Given the description of an element on the screen output the (x, y) to click on. 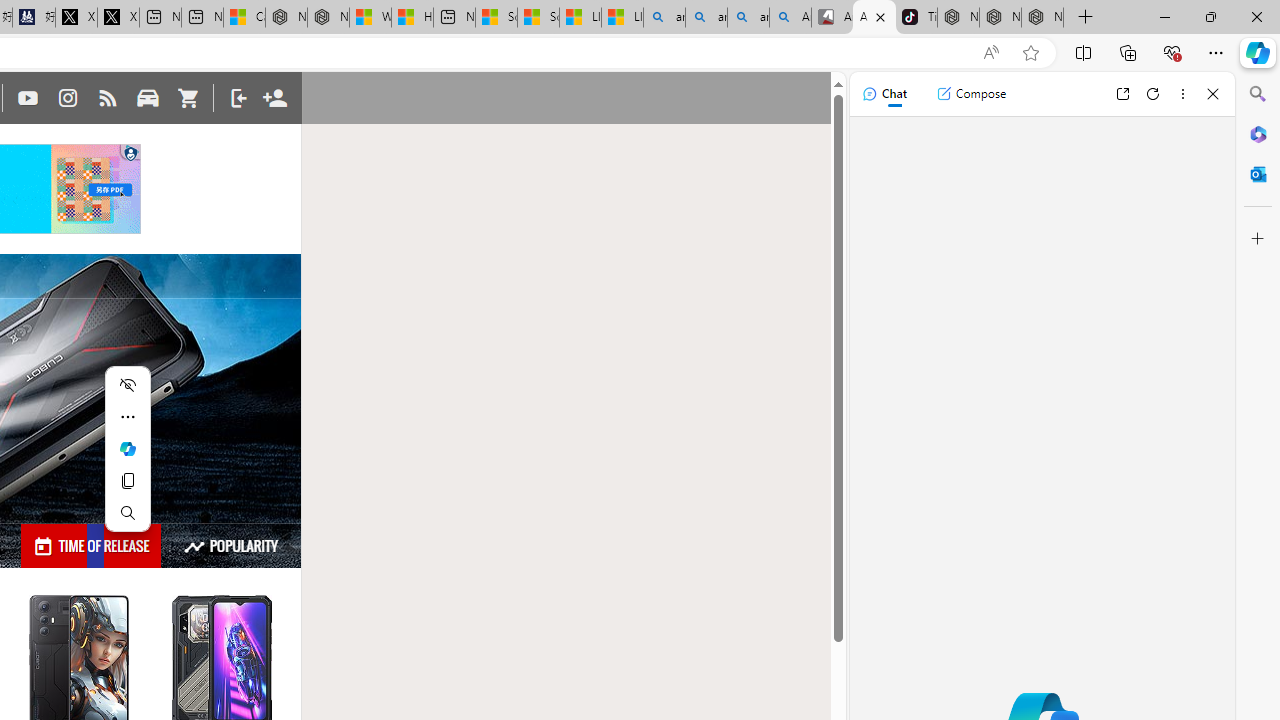
To get missing image descriptions, open the context menu. (130, 154)
All Cubot phones (873, 17)
Nordace - Siena Pro 15 Essential Set (1042, 17)
Microsoft 365 (1258, 133)
Compose (971, 93)
Privacy Notification (130, 154)
